Given the description of an element on the screen output the (x, y) to click on. 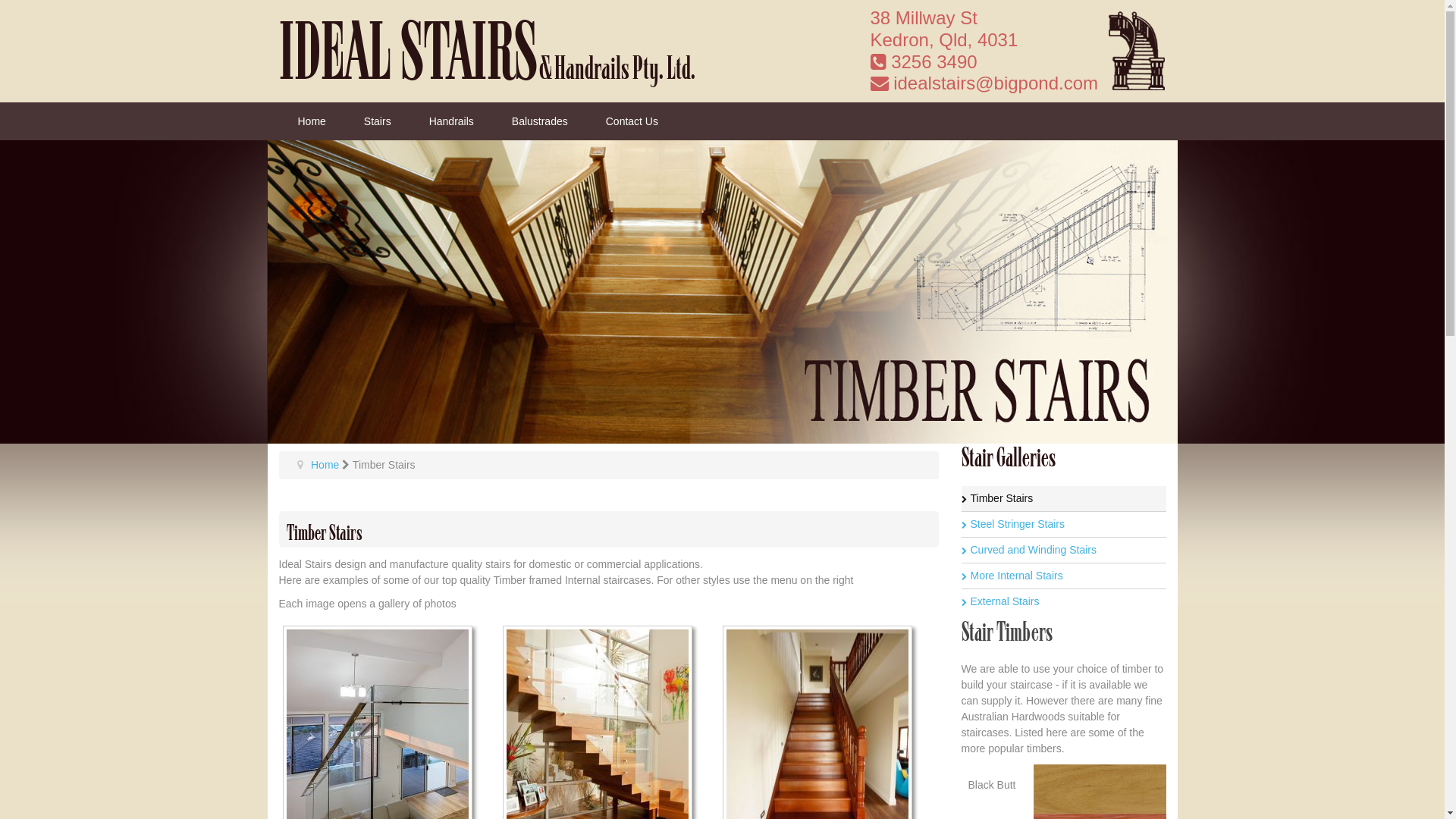
Home Element type: text (312, 121)
3256 3490 Element type: text (923, 61)
Handrails Element type: text (451, 121)
More Internal Stairs Element type: text (1063, 576)
External Stairs Element type: text (1063, 601)
Curved and Winding Stairs Element type: text (1063, 550)
idealstairs@bigpond.com Element type: text (984, 82)
Steel Stringer Stairs Element type: text (1063, 524)
Timber Stairs Element type: text (1063, 498)
Stairs Element type: text (377, 121)
Balustrades Element type: text (539, 121)
Contact Us Element type: text (631, 121)
Home Element type: text (324, 464)
